Given the description of an element on the screen output the (x, y) to click on. 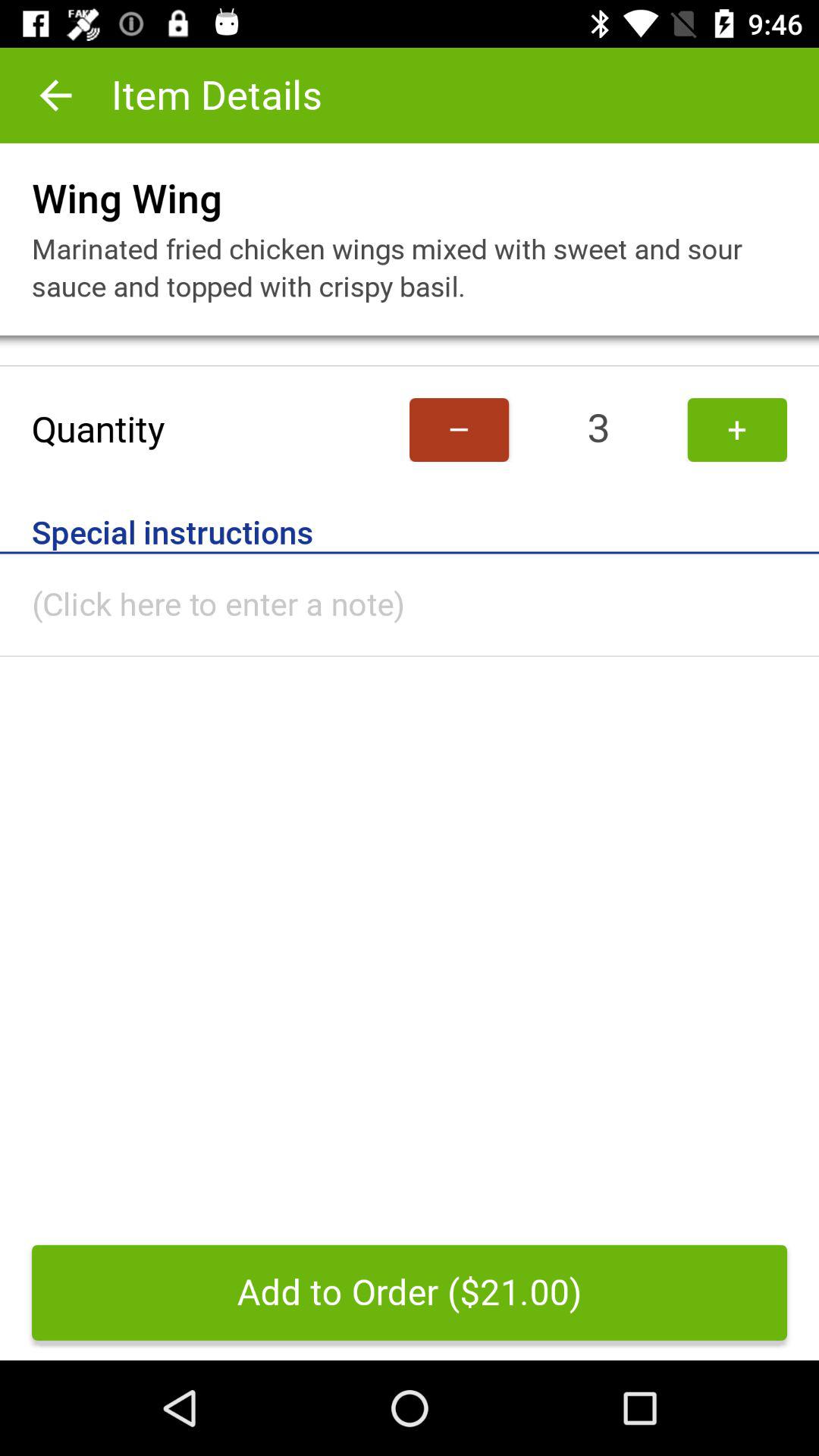
click on the icon which reduces the quantity (458, 429)
